Given the description of an element on the screen output the (x, y) to click on. 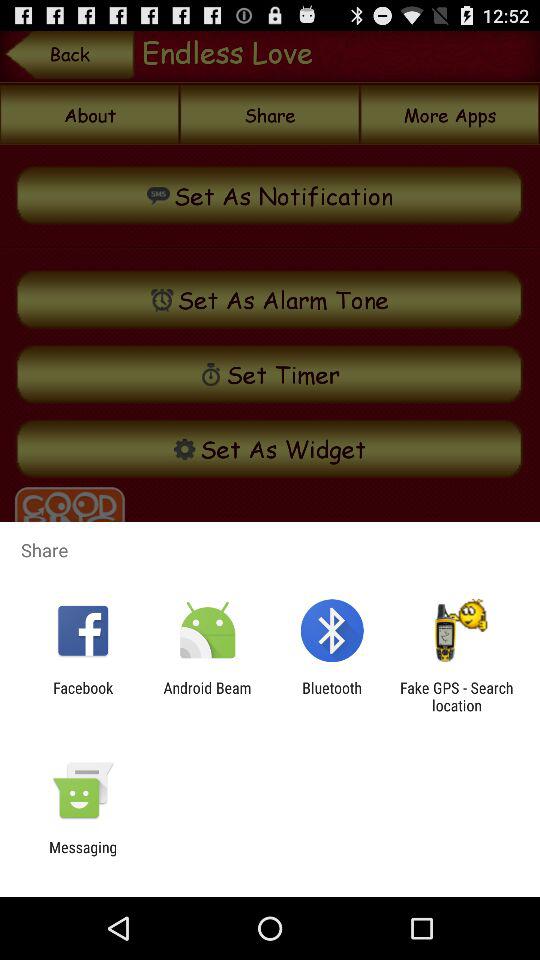
choose app to the left of the android beam (83, 696)
